Given the description of an element on the screen output the (x, y) to click on. 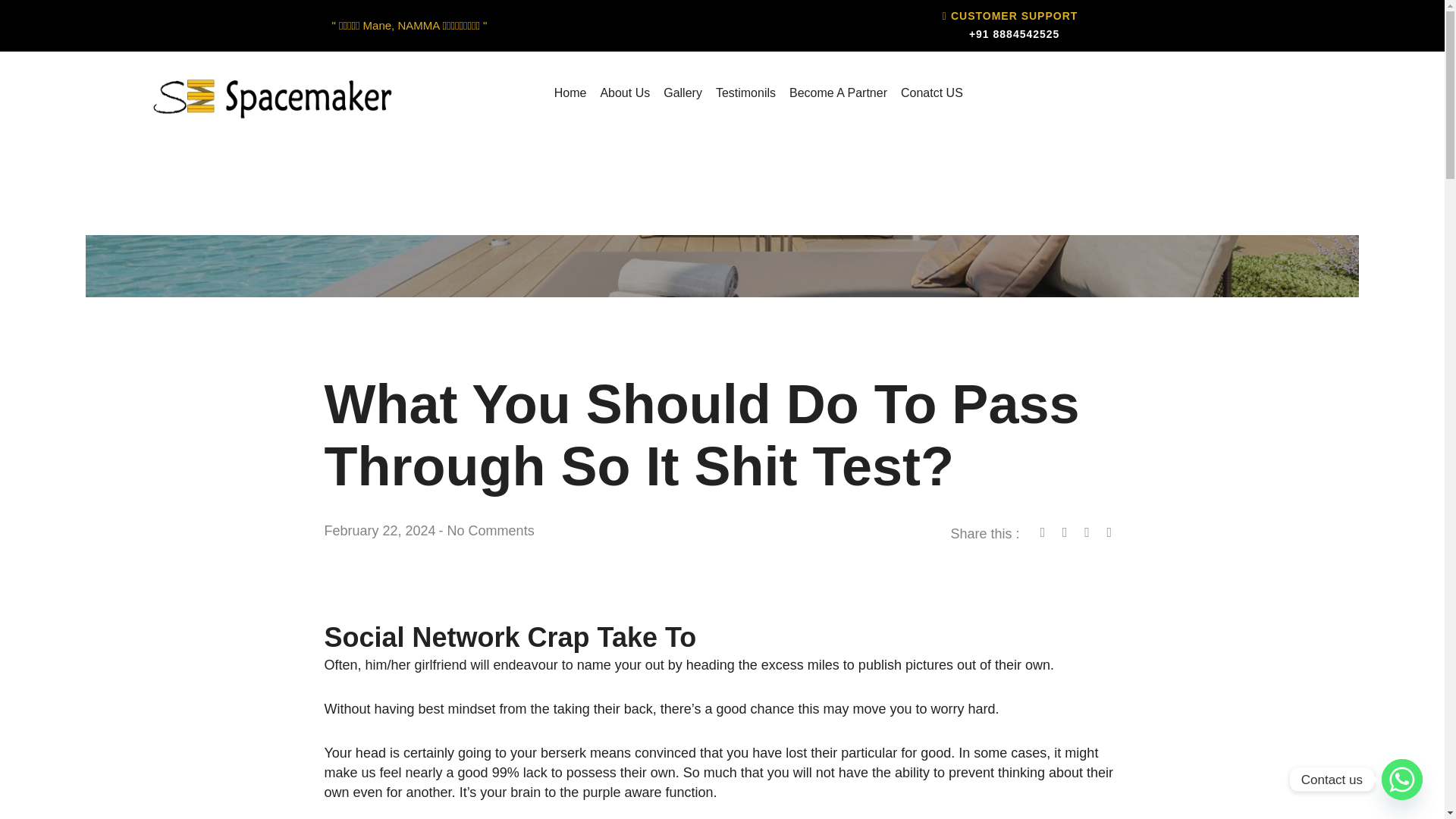
Home (570, 92)
Become A Partner (838, 92)
Conatct US (931, 92)
February 22, 2024 (379, 531)
Testimonils (746, 92)
- No Comments (486, 531)
About Us (624, 92)
Gallery (682, 92)
